Given the description of an element on the screen output the (x, y) to click on. 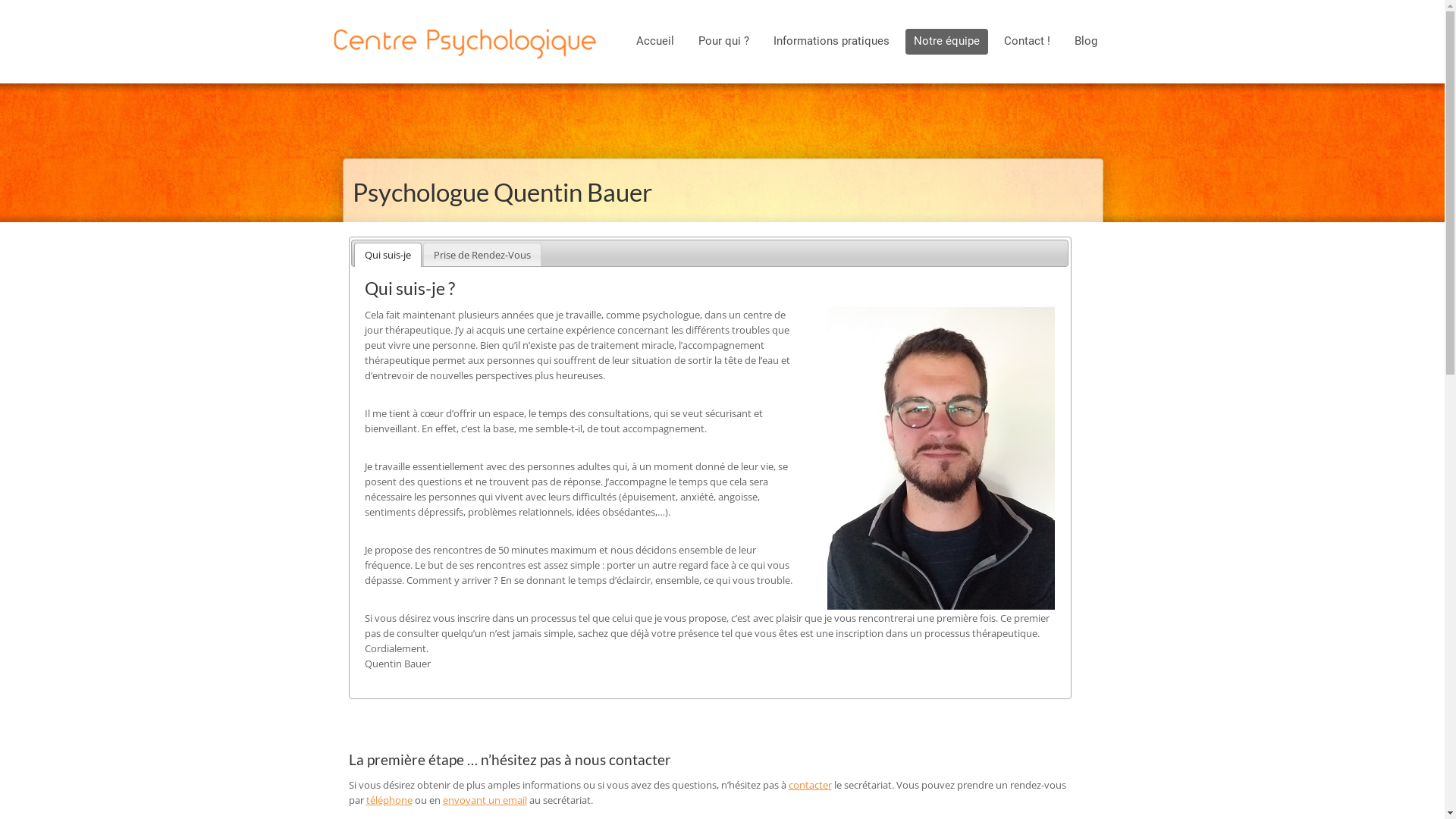
Pour qui ? Element type: text (723, 41)
Accueil Element type: text (654, 41)
Qui suis-je Element type: text (387, 254)
Contact ! Element type: text (1025, 41)
contacter Element type: text (809, 784)
Blog Element type: text (1085, 41)
envoyant un email Element type: text (484, 799)
Informations pratiques Element type: text (830, 41)
Prise de Rendez-Vous Element type: text (481, 254)
